Given the description of an element on the screen output the (x, y) to click on. 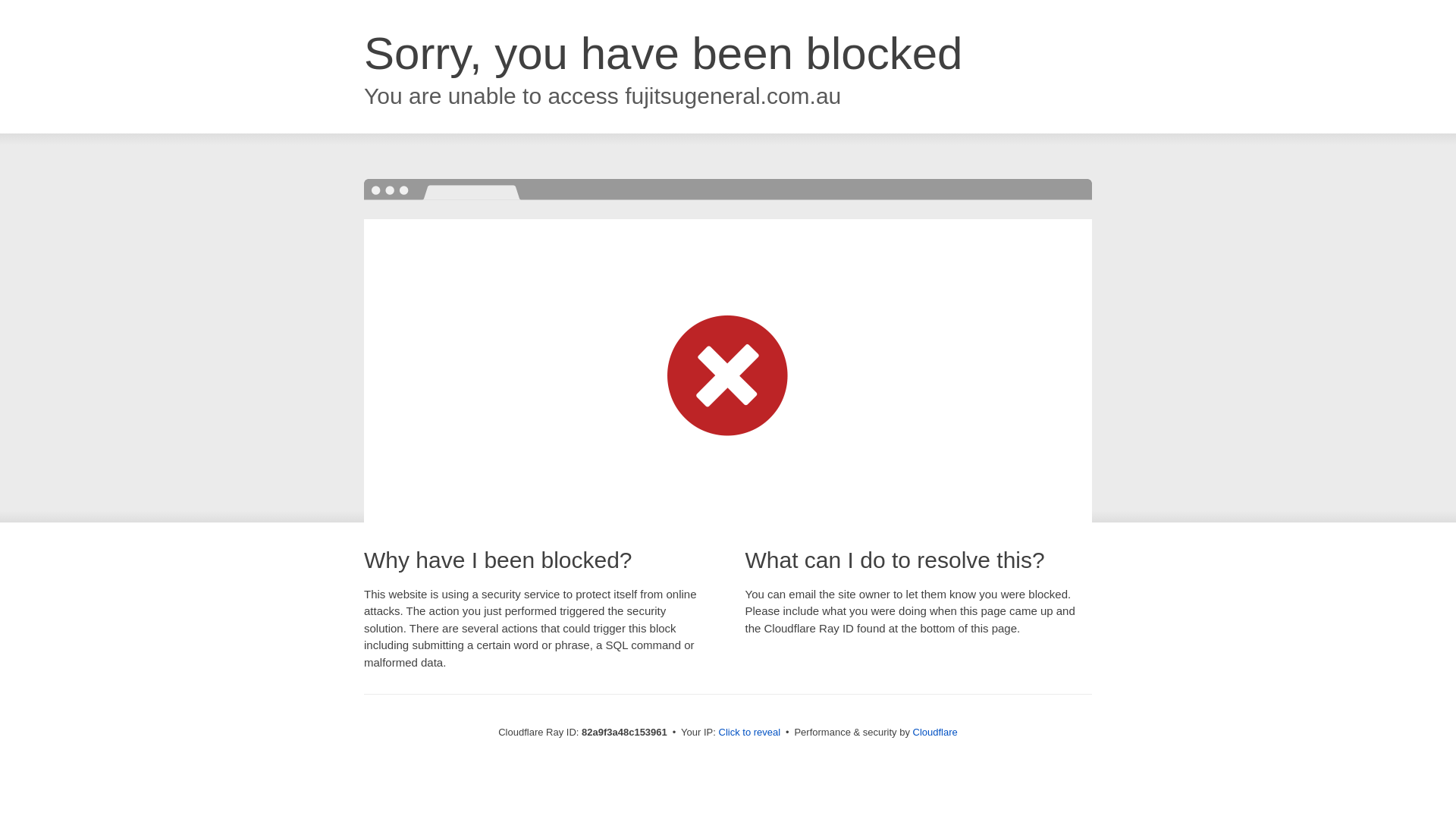
Cloudflare Element type: text (935, 731)
Click to reveal Element type: text (749, 732)
